Given the description of an element on the screen output the (x, y) to click on. 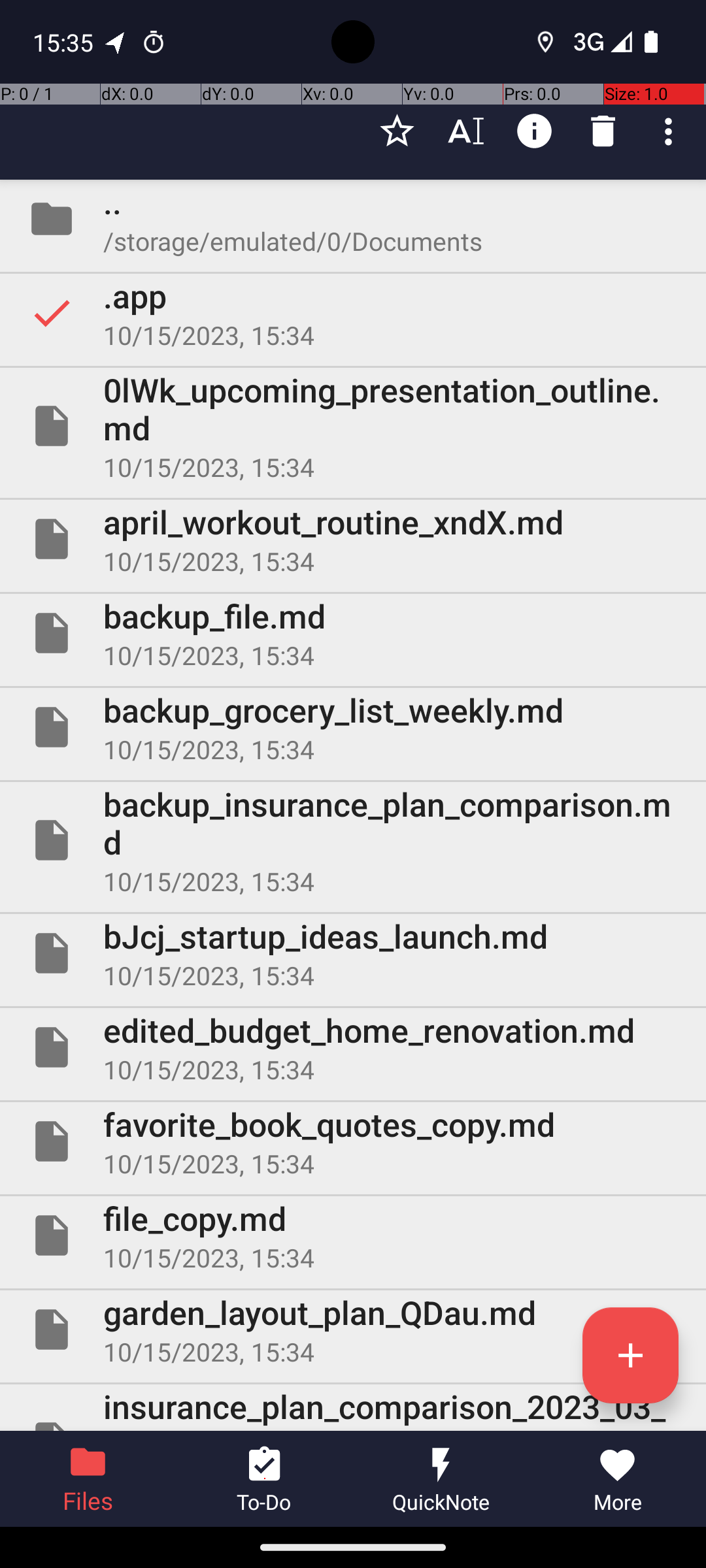
Favourite Element type: android.widget.TextView (396, 131)
Selected .app  Element type: android.widget.LinearLayout (353, 312)
File 0lWk_upcoming_presentation_outline.md  Element type: android.widget.LinearLayout (353, 425)
File april_workout_routine_xndX.md  Element type: android.widget.LinearLayout (353, 538)
File backup_file.md  Element type: android.widget.LinearLayout (353, 632)
File backup_grocery_list_weekly.md  Element type: android.widget.LinearLayout (353, 726)
File backup_insurance_plan_comparison.md  Element type: android.widget.LinearLayout (353, 840)
File bJcj_startup_ideas_launch.md  Element type: android.widget.LinearLayout (353, 953)
File edited_budget_home_renovation.md  Element type: android.widget.LinearLayout (353, 1047)
File favorite_book_quotes_copy.md  Element type: android.widget.LinearLayout (353, 1141)
File file_copy.md  Element type: android.widget.LinearLayout (353, 1235)
File garden_layout_plan_QDau.md  Element type: android.widget.LinearLayout (353, 1329)
File insurance_plan_comparison_2023_03_26.md  Element type: android.widget.LinearLayout (353, 1407)
